Given the description of an element on the screen output the (x, y) to click on. 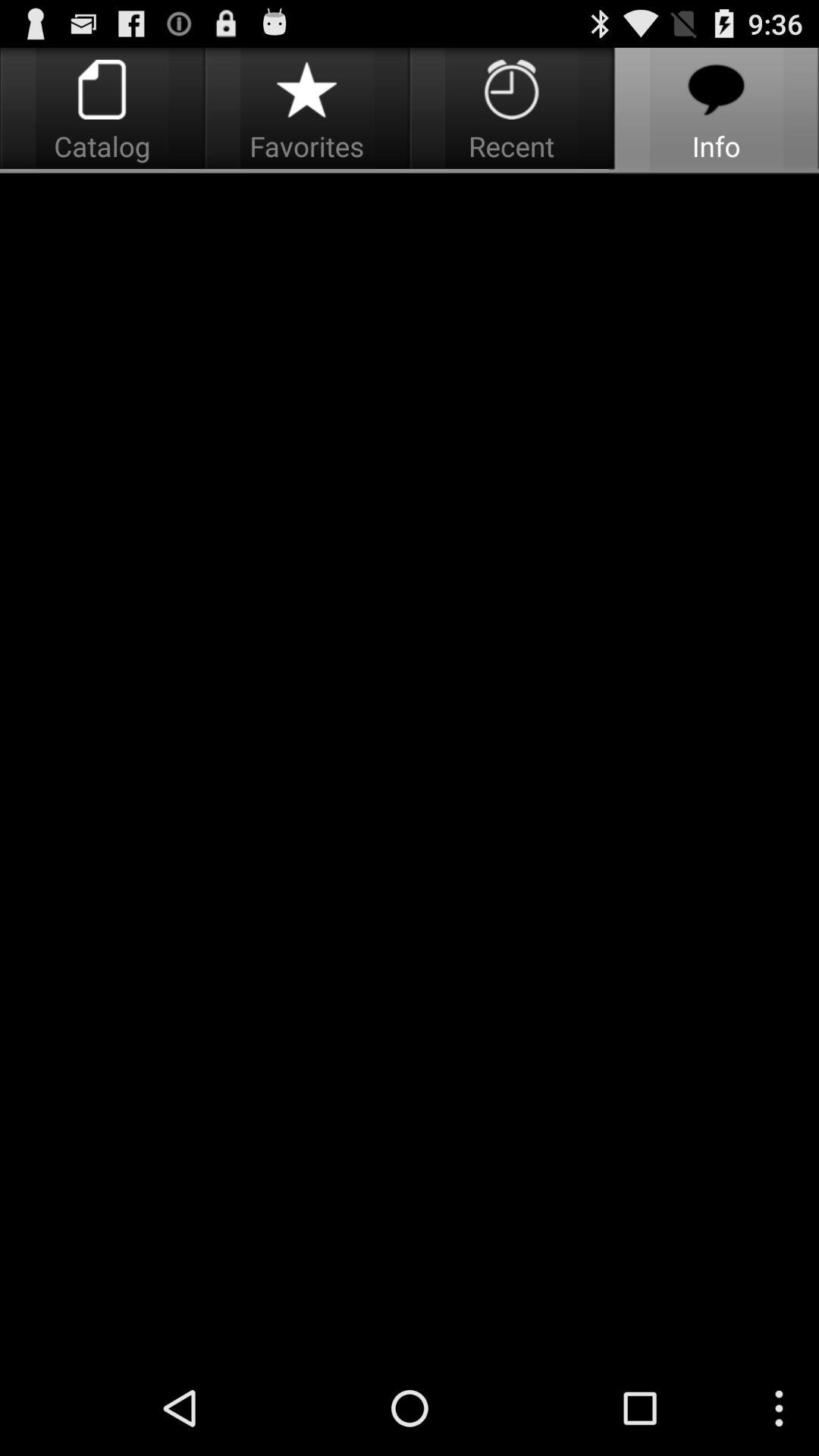
press the app below the catalog (409, 767)
